Given the description of an element on the screen output the (x, y) to click on. 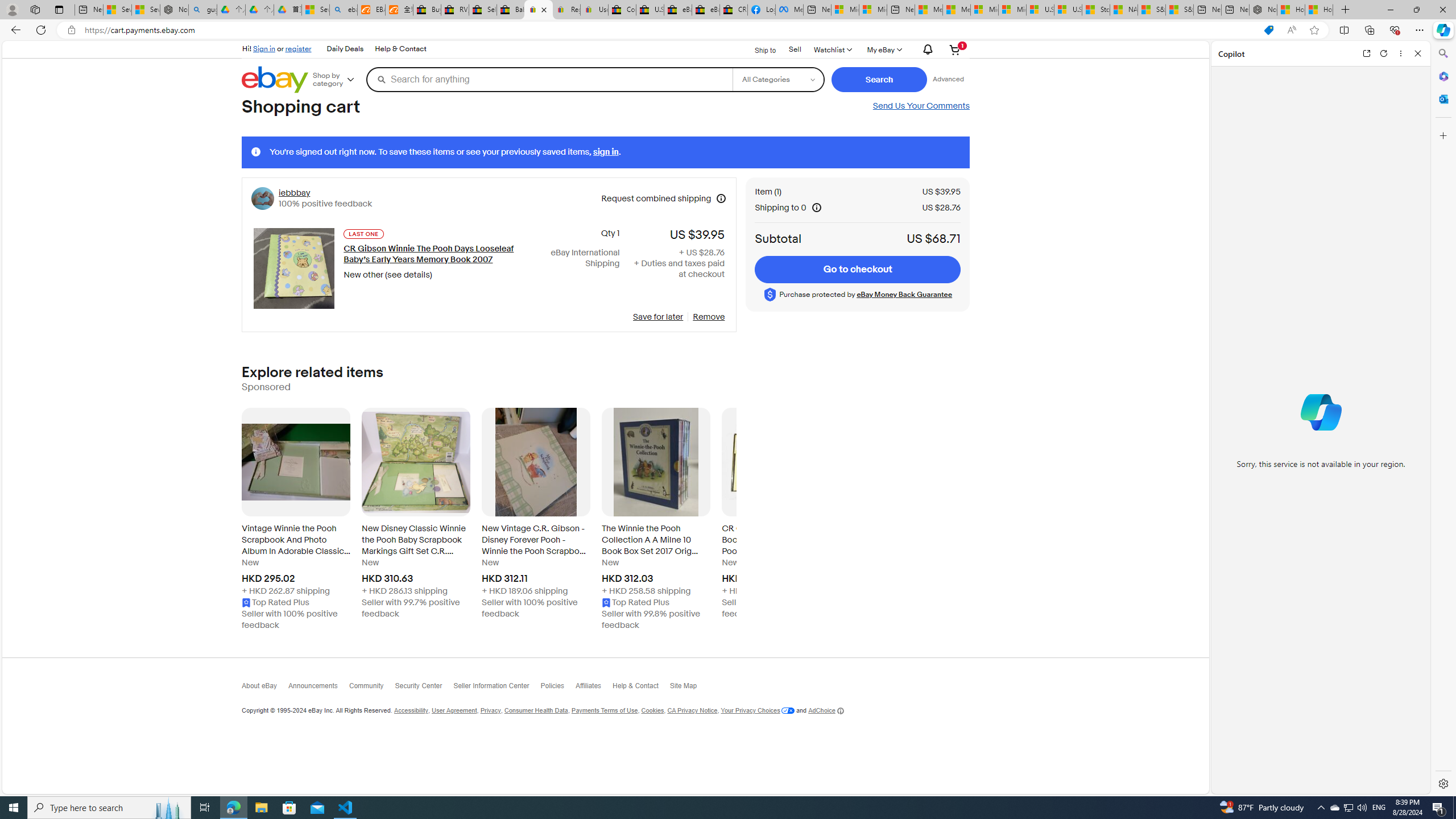
Advanced Search (947, 78)
Go to checkout (857, 269)
register (298, 48)
About eBay (264, 688)
Your Privacy Choices (757, 710)
Go to the next slide, Explore related items - Carousel (736, 521)
eBay Home (274, 79)
eBay Home (274, 79)
